Given the description of an element on the screen output the (x, y) to click on. 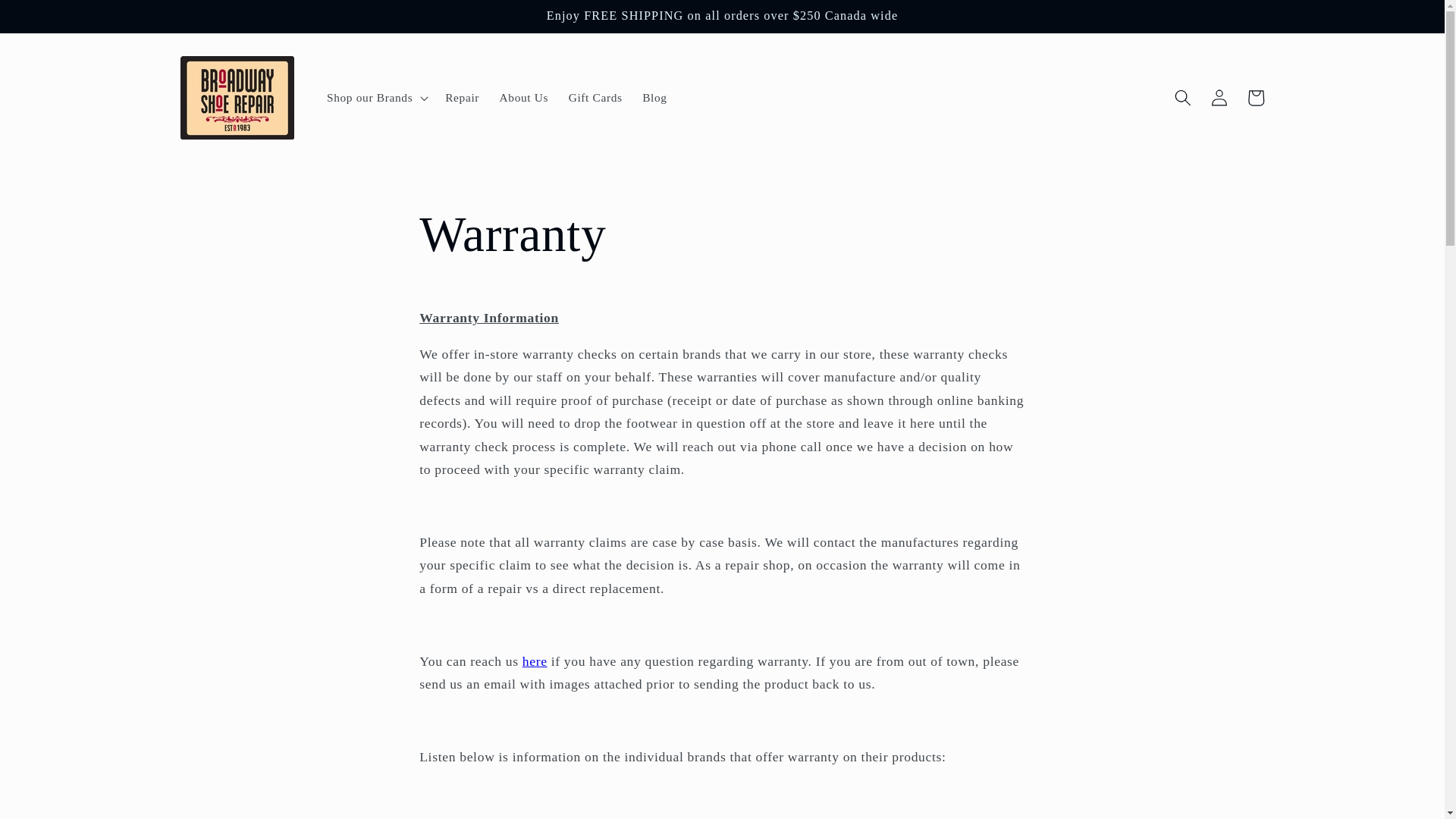
Skip to content (50, 19)
